Given the description of an element on the screen output the (x, y) to click on. 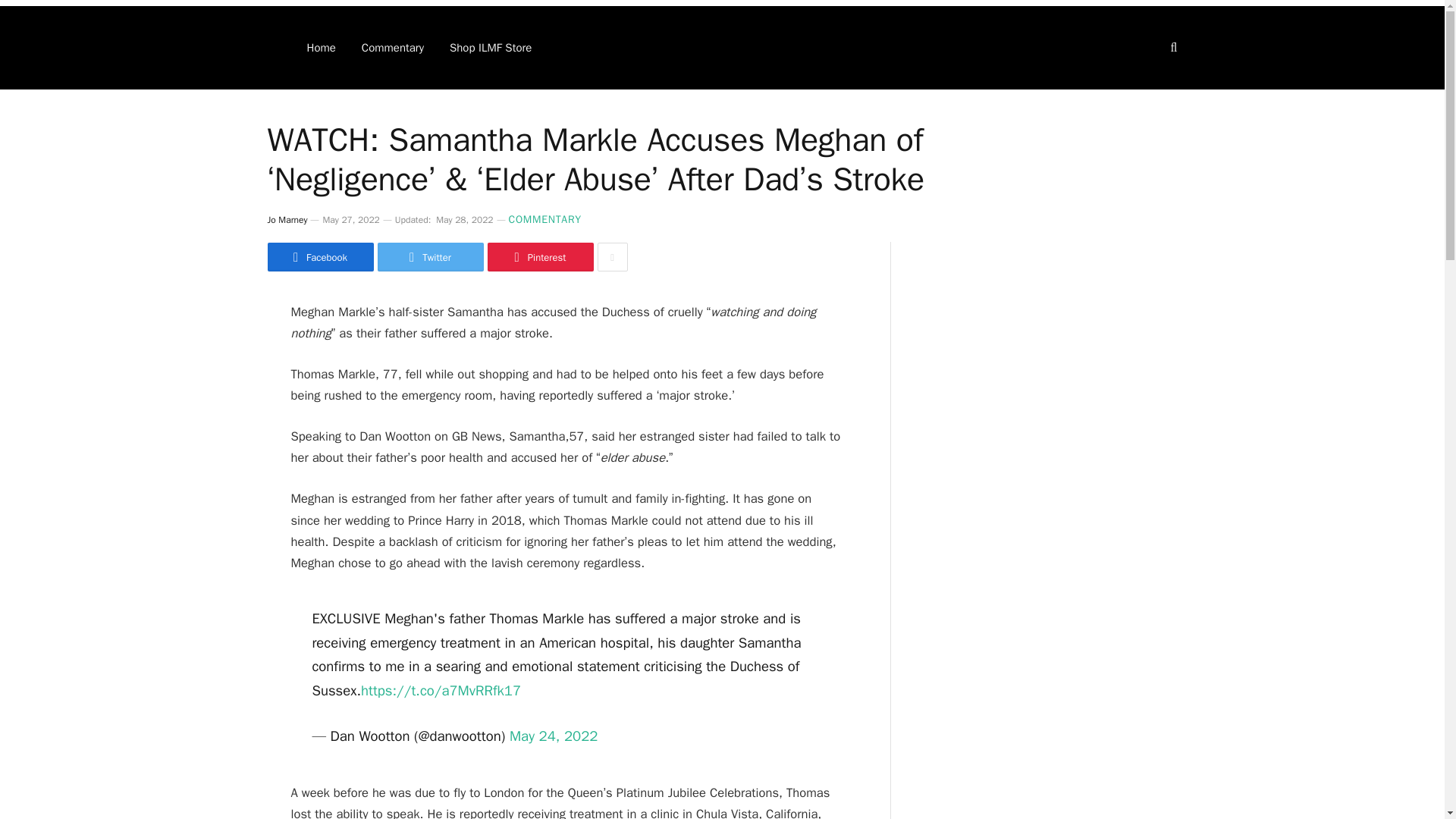
May 24, 2022 (553, 736)
Twitter (430, 256)
Facebook (319, 256)
Pinterest (539, 256)
COMMENTARY (544, 219)
Jo Marney (286, 219)
Share on Facebook (319, 256)
Posts by Jo Marney (286, 219)
Commentary (392, 47)
Show More Social Sharing (611, 256)
